Given the description of an element on the screen output the (x, y) to click on. 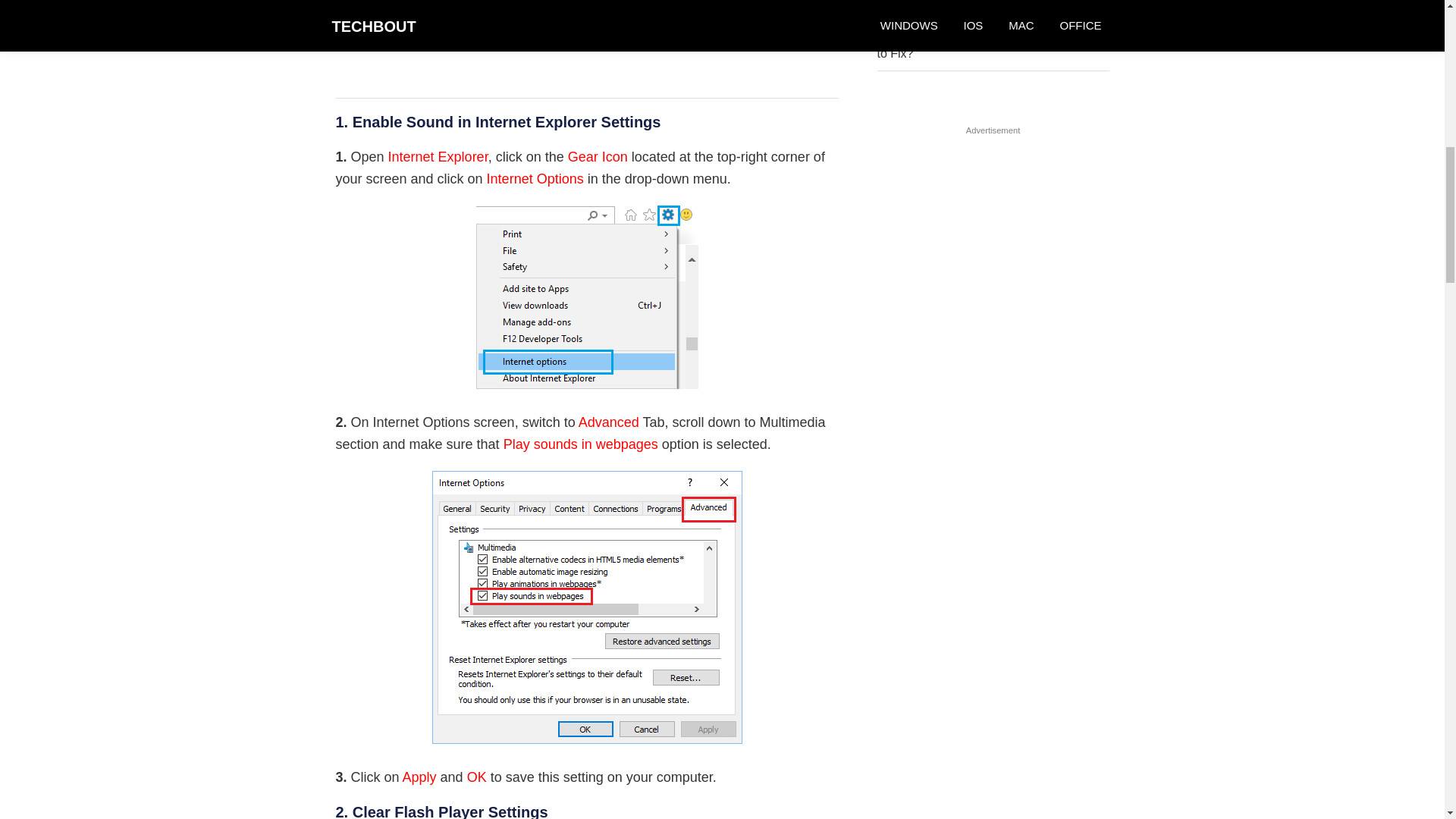
Play Sounds in webpages Option in Internet Advanced Options (587, 606)
Advertisement (586, 48)
Windows Laptop Battery Drains Fast: How to Fix? (990, 43)
Open Internet Options in Internet Explorer (587, 296)
